Given the description of an element on the screen output the (x, y) to click on. 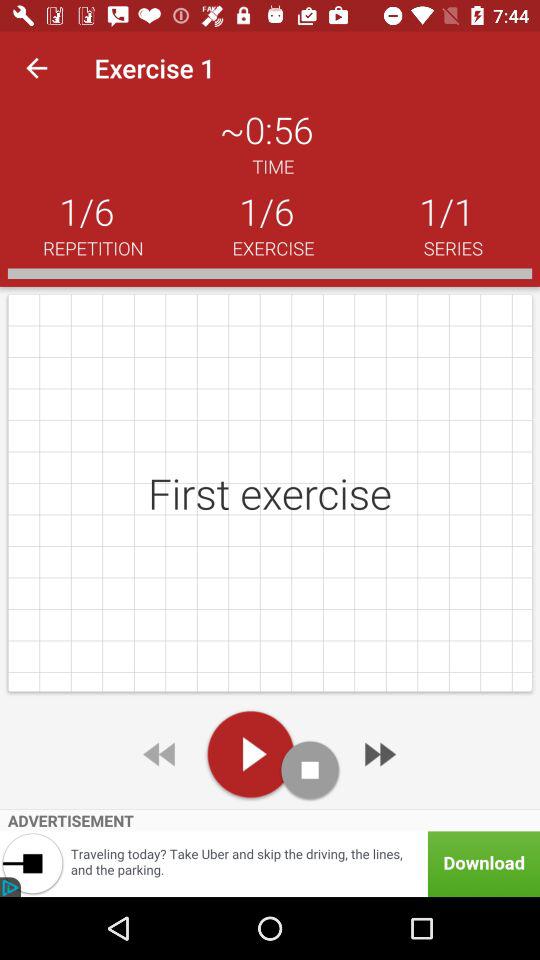
stop (309, 769)
